Given the description of an element on the screen output the (x, y) to click on. 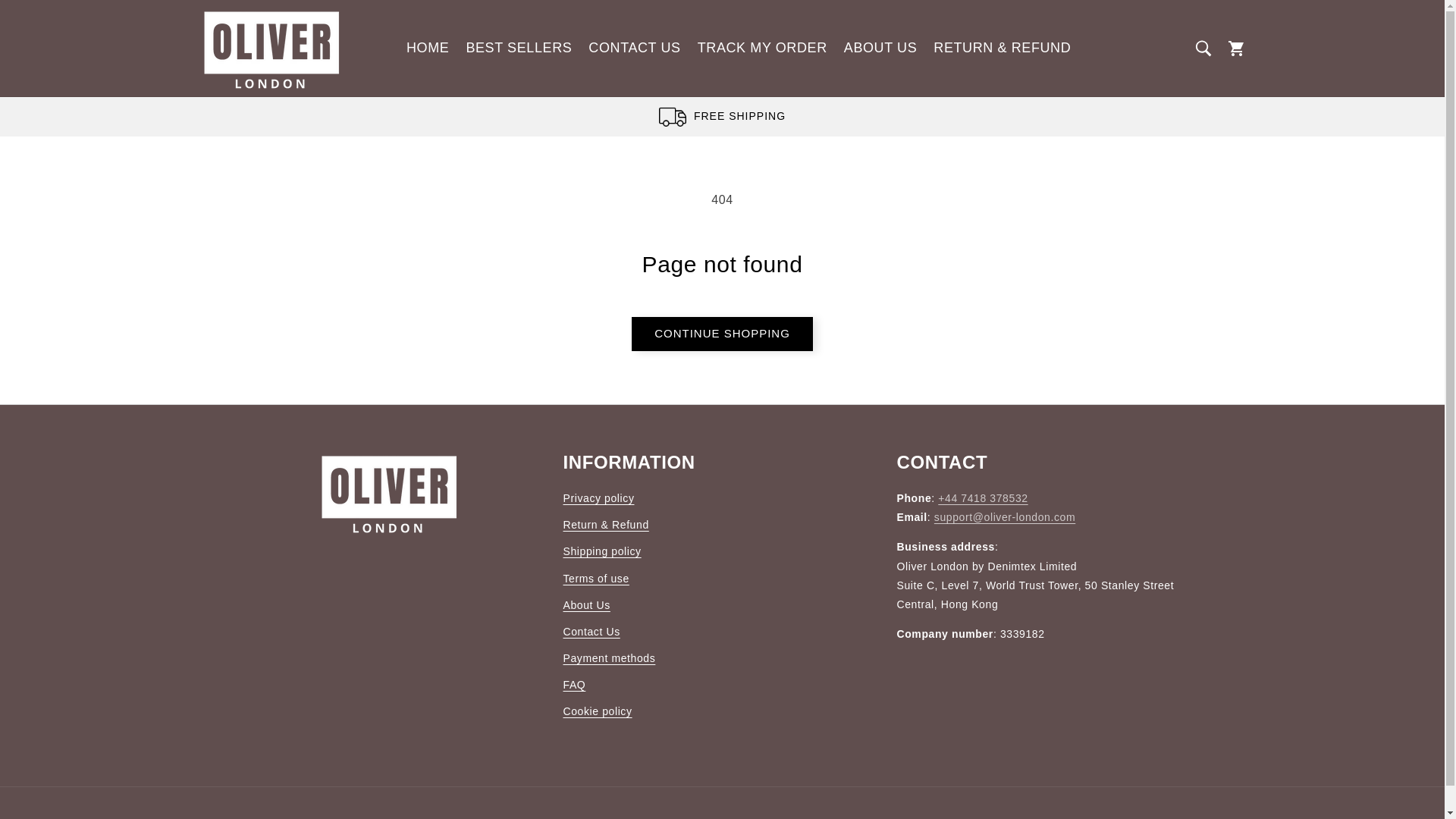
Payment methods (608, 658)
Cookie policy (596, 711)
Shipping policy (601, 551)
Contact Us (591, 632)
SKIP TO CONTENT (45, 16)
TRACK MY ORDER (761, 48)
BEST SELLERS (518, 48)
Cart (1236, 48)
Terms of use (595, 578)
CONTACT US (633, 48)
CONTINUE SHOPPING (721, 333)
Privacy policy (597, 499)
ABOUT US (880, 48)
About Us (586, 605)
HOME (427, 48)
